Given the description of an element on the screen output the (x, y) to click on. 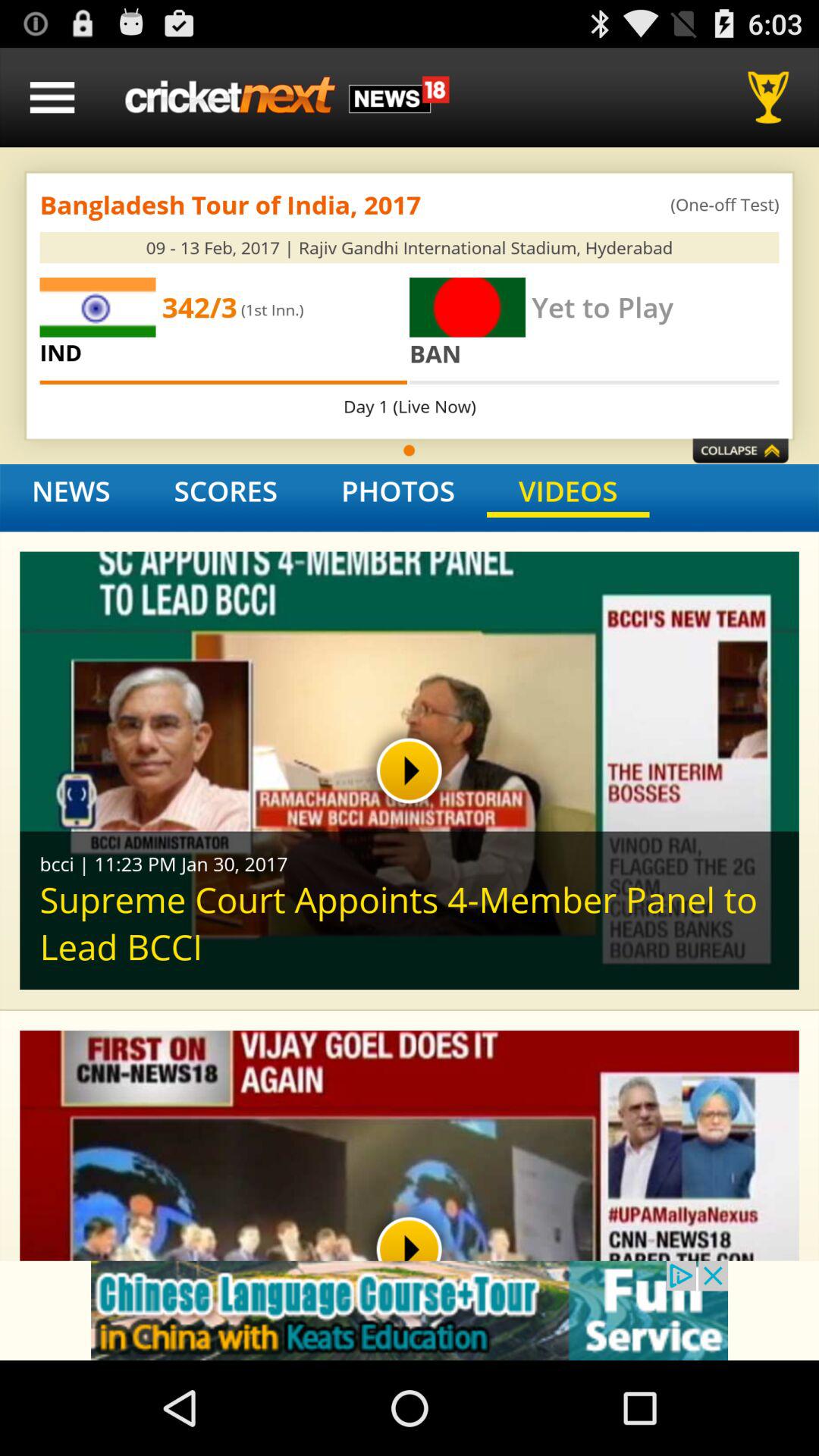
open advertisement (409, 1310)
